Given the description of an element on the screen output the (x, y) to click on. 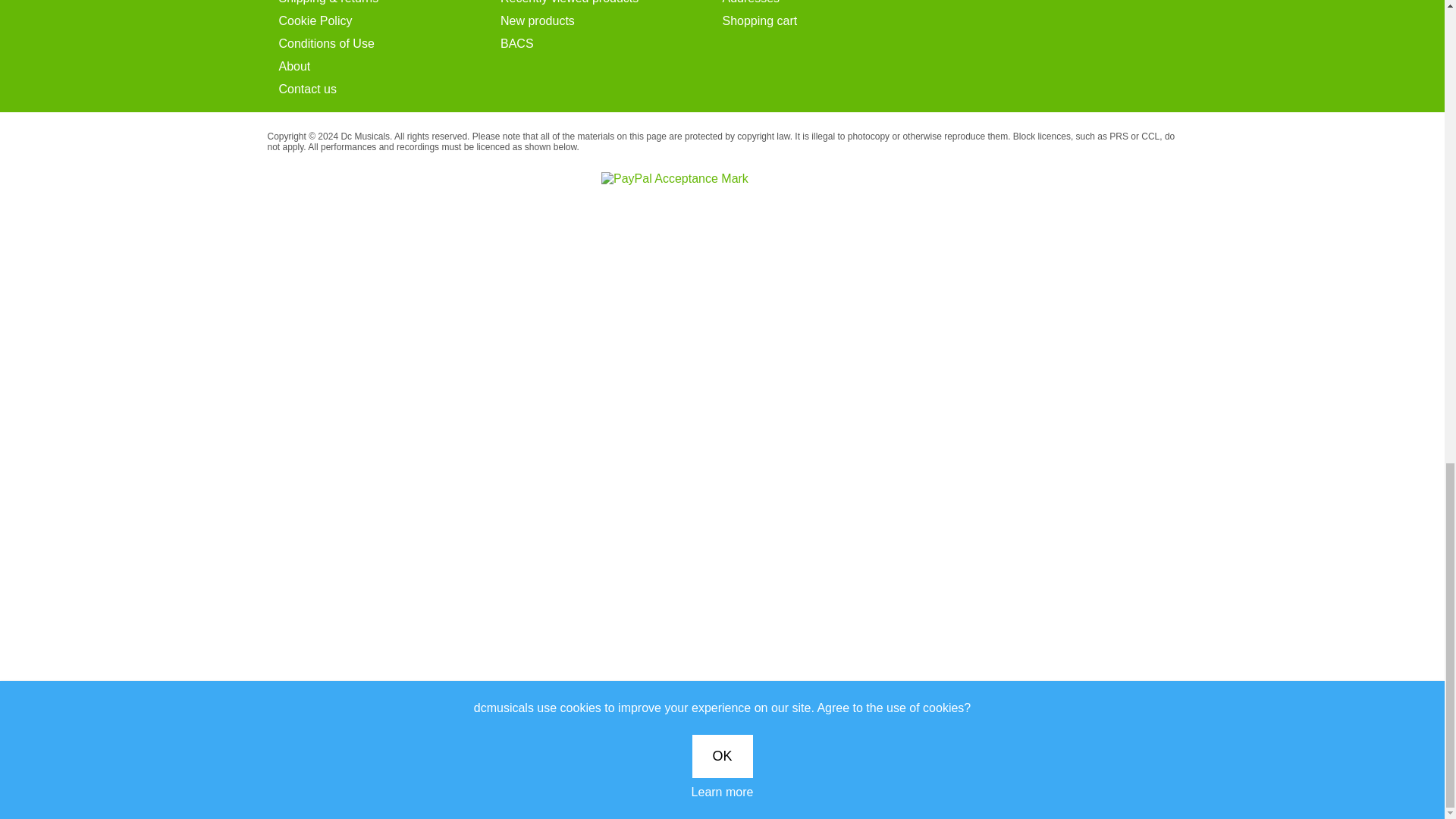
About (389, 66)
Addresses (832, 2)
Conditions of Use (389, 43)
How PayPal Works (674, 177)
Recently viewed products (611, 2)
New products (611, 20)
Shopping cart (832, 20)
Cookie Policy (389, 20)
BACS (611, 43)
Contact us (389, 89)
